Given the description of an element on the screen output the (x, y) to click on. 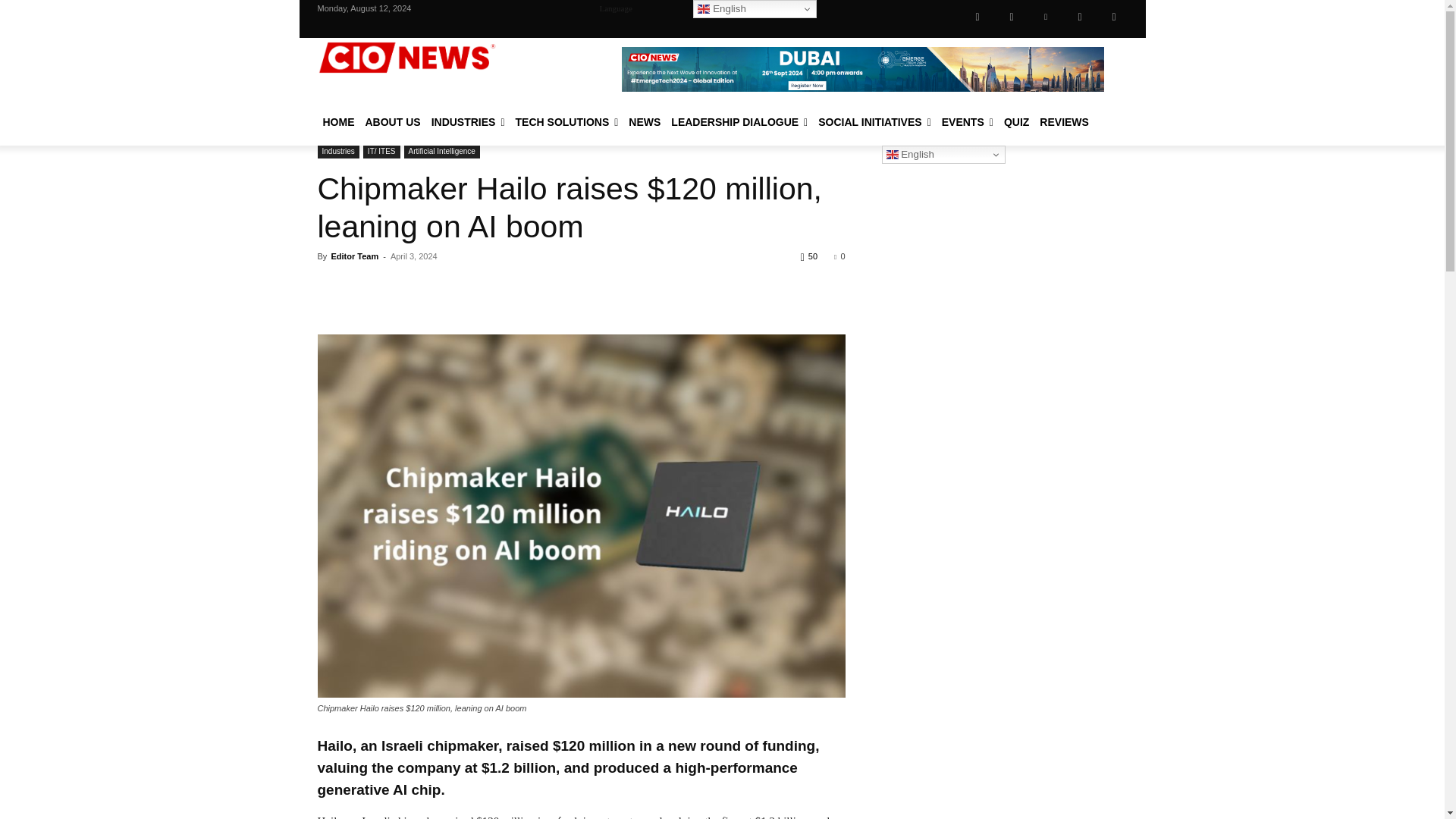
Facebook (976, 17)
Instagram (1011, 17)
Twitter (1079, 17)
Linkedin (1045, 17)
